Given the description of an element on the screen output the (x, y) to click on. 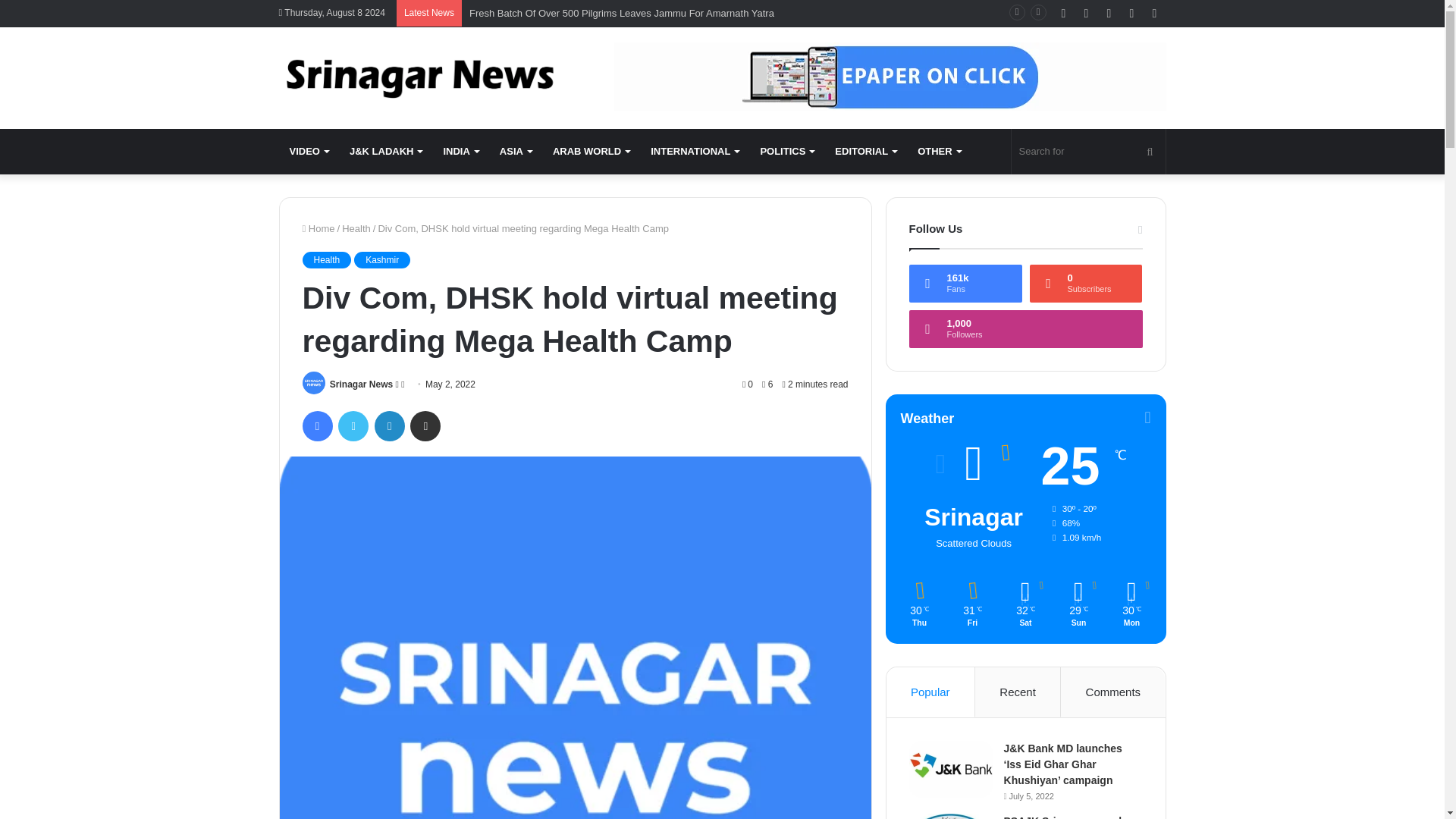
LinkedIn (389, 426)
Srinagar News (419, 77)
Srinagar News (361, 384)
EDITORIAL (865, 151)
OTHER (939, 151)
Search for (1088, 151)
ASIA (515, 151)
Facebook (316, 426)
VIDEO (309, 151)
Home (317, 228)
POLITICS (786, 151)
Health (325, 259)
Twitter (352, 426)
INTERNATIONAL (694, 151)
